Given the description of an element on the screen output the (x, y) to click on. 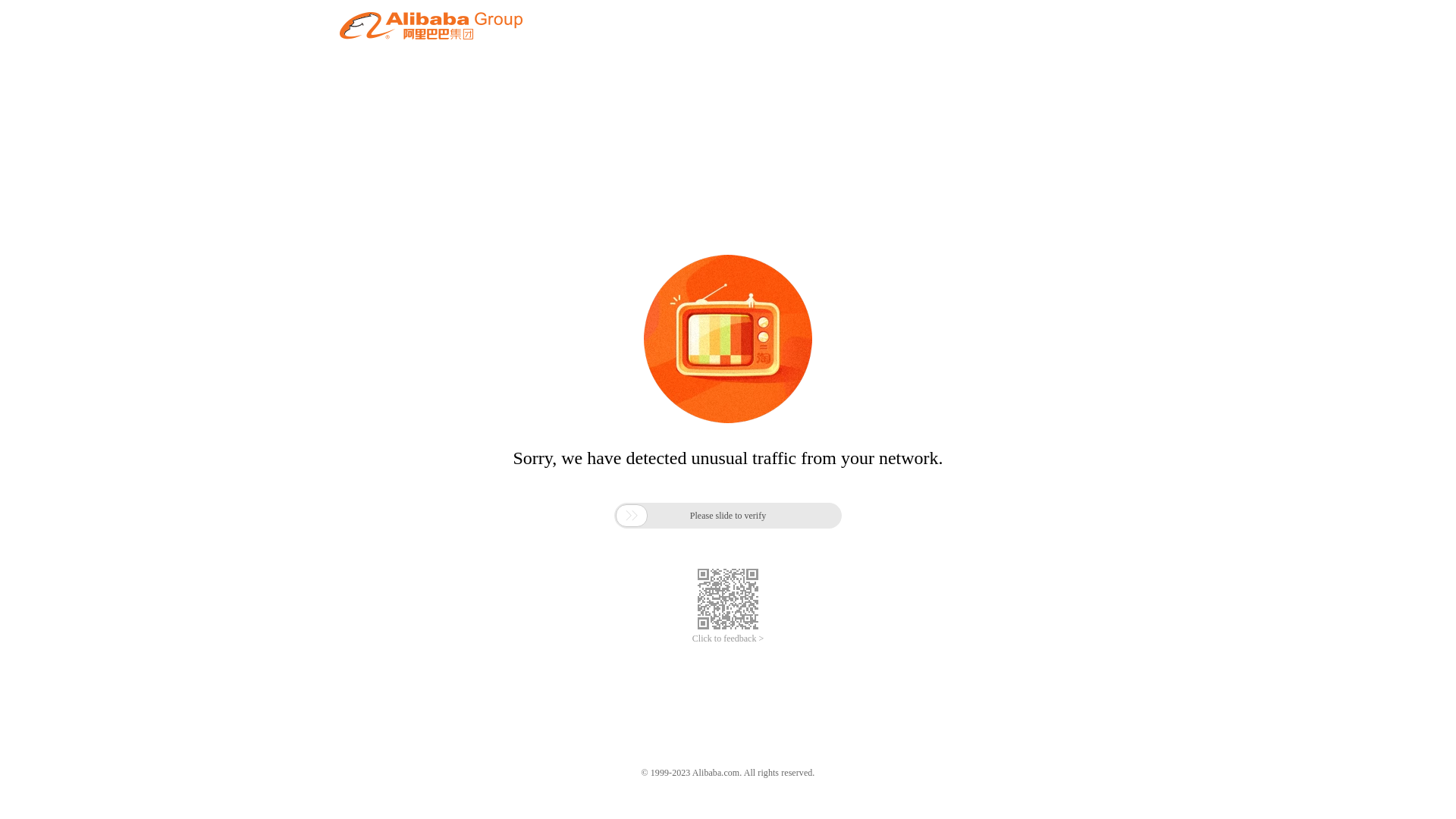
Click to feedback > Element type: text (727, 638)
